Given the description of an element on the screen output the (x, y) to click on. 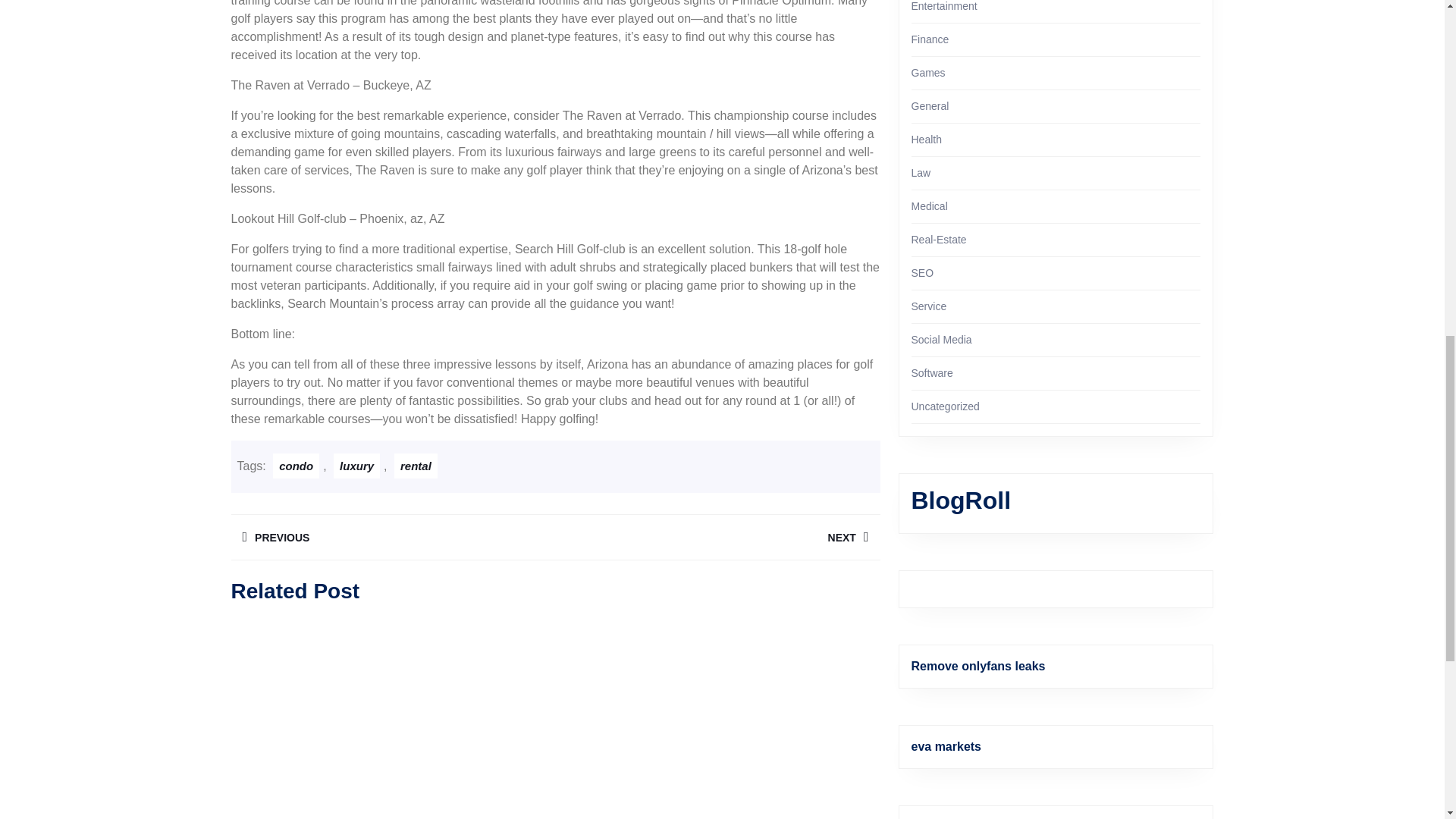
luxury (356, 465)
Games (927, 72)
condo (716, 537)
Finance (295, 465)
rental (930, 39)
General (416, 465)
Entertainment (392, 537)
